Given the description of an element on the screen output the (x, y) to click on. 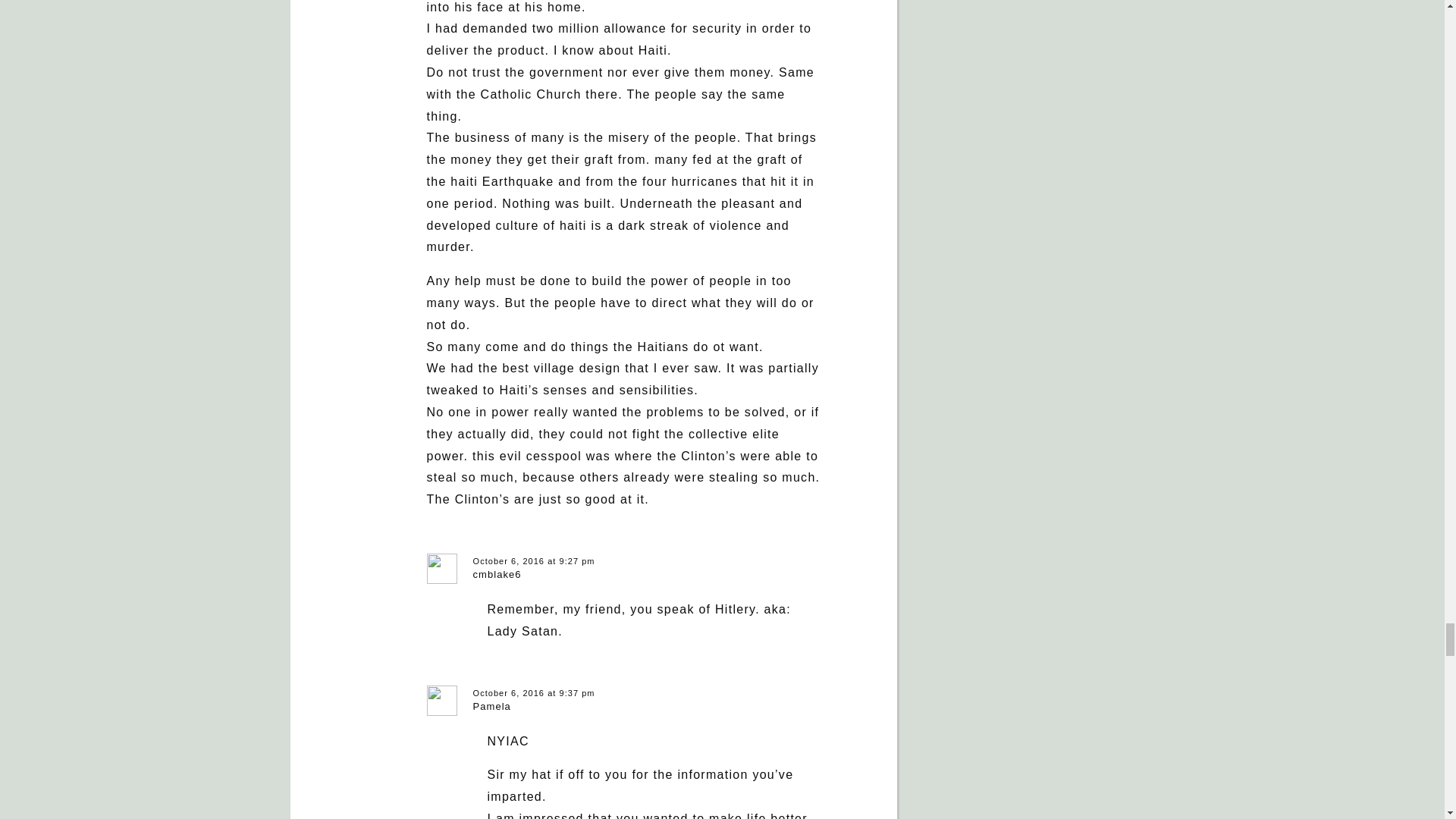
cmblake6 (497, 573)
